Given the description of an element on the screen output the (x, y) to click on. 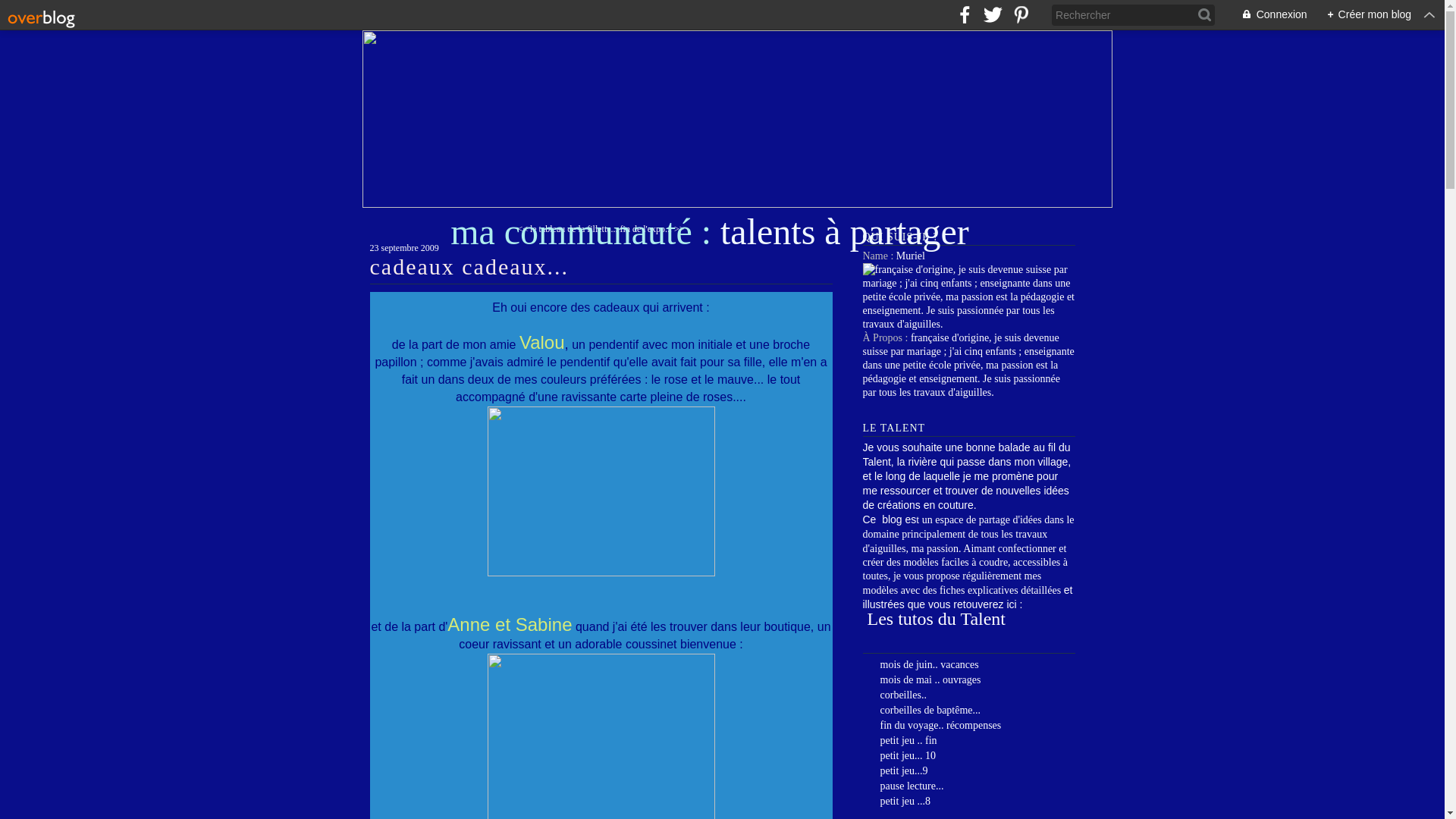
pause lecture... Element type: text (911, 785)
mois de juin.. vacances Element type: text (928, 664)
petit jeu... 10 Element type: text (907, 755)
petit jeu...9 Element type: text (903, 770)
Anne et Sabine Element type: text (509, 626)
    Element type: text (982, 231)
 facebook Element type: hover (964, 14)
<< le tableau de la fillette... Element type: text (567, 228)
petit jeu ...8 Element type: text (904, 800)
 pinterest Element type: hover (1020, 14)
 Les tutos du Talent Element type: text (934, 618)
petit jeu .. fin Element type: text (907, 740)
mois de mai .. ouvrages Element type: text (929, 679)
 twitter Element type: hover (992, 14)
Connexion Element type: text (1266, 14)
cadeaux cadeaux... Element type: text (469, 266)
fin de l'expo... >> Element type: text (652, 228)
corbeilles.. Element type: text (902, 694)
Valou Element type: text (541, 344)
